Given the description of an element on the screen output the (x, y) to click on. 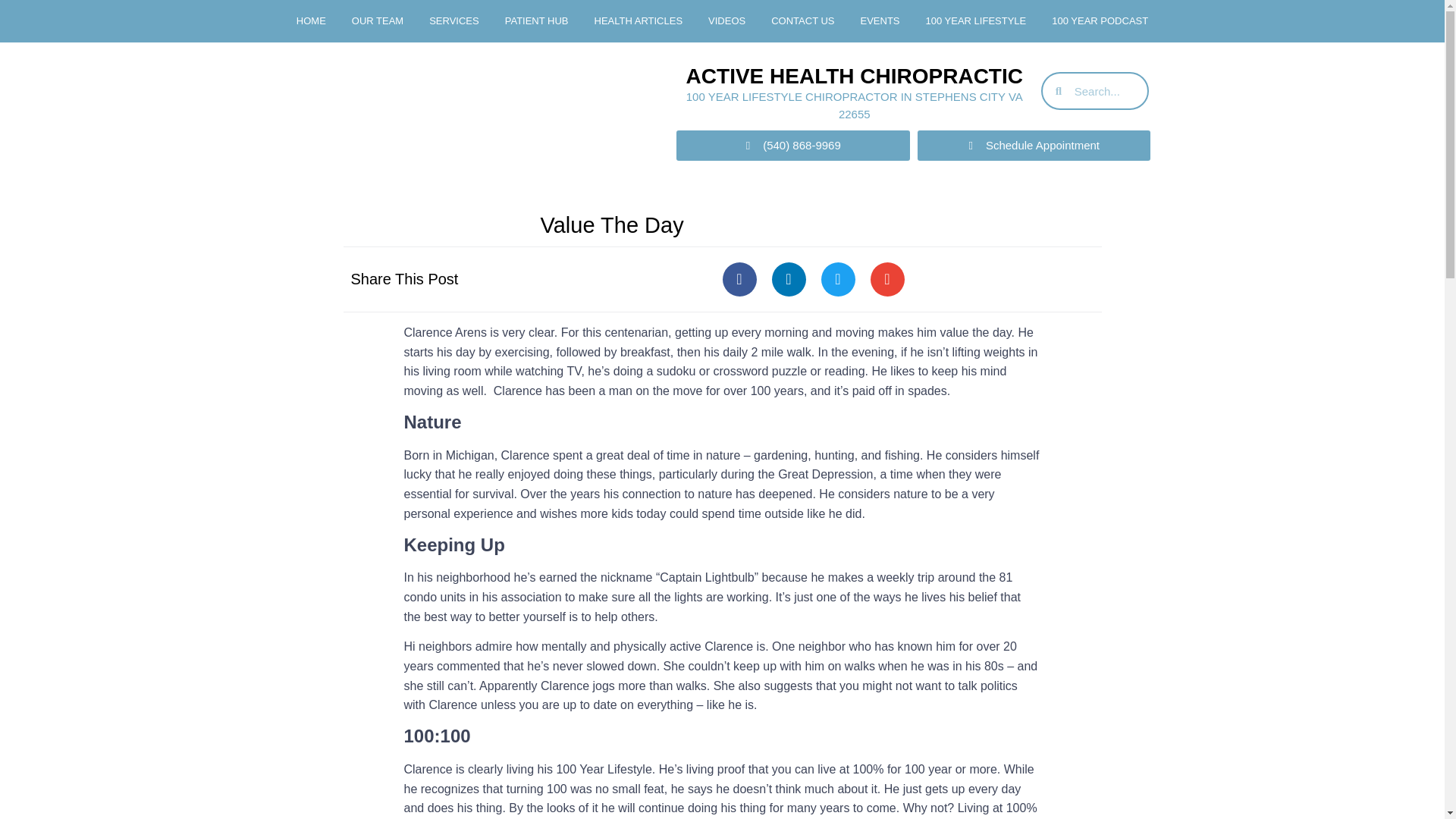
HOME (311, 21)
OUR TEAM (377, 21)
SERVICES (454, 21)
PATIENT HUB (536, 21)
